Given the description of an element on the screen output the (x, y) to click on. 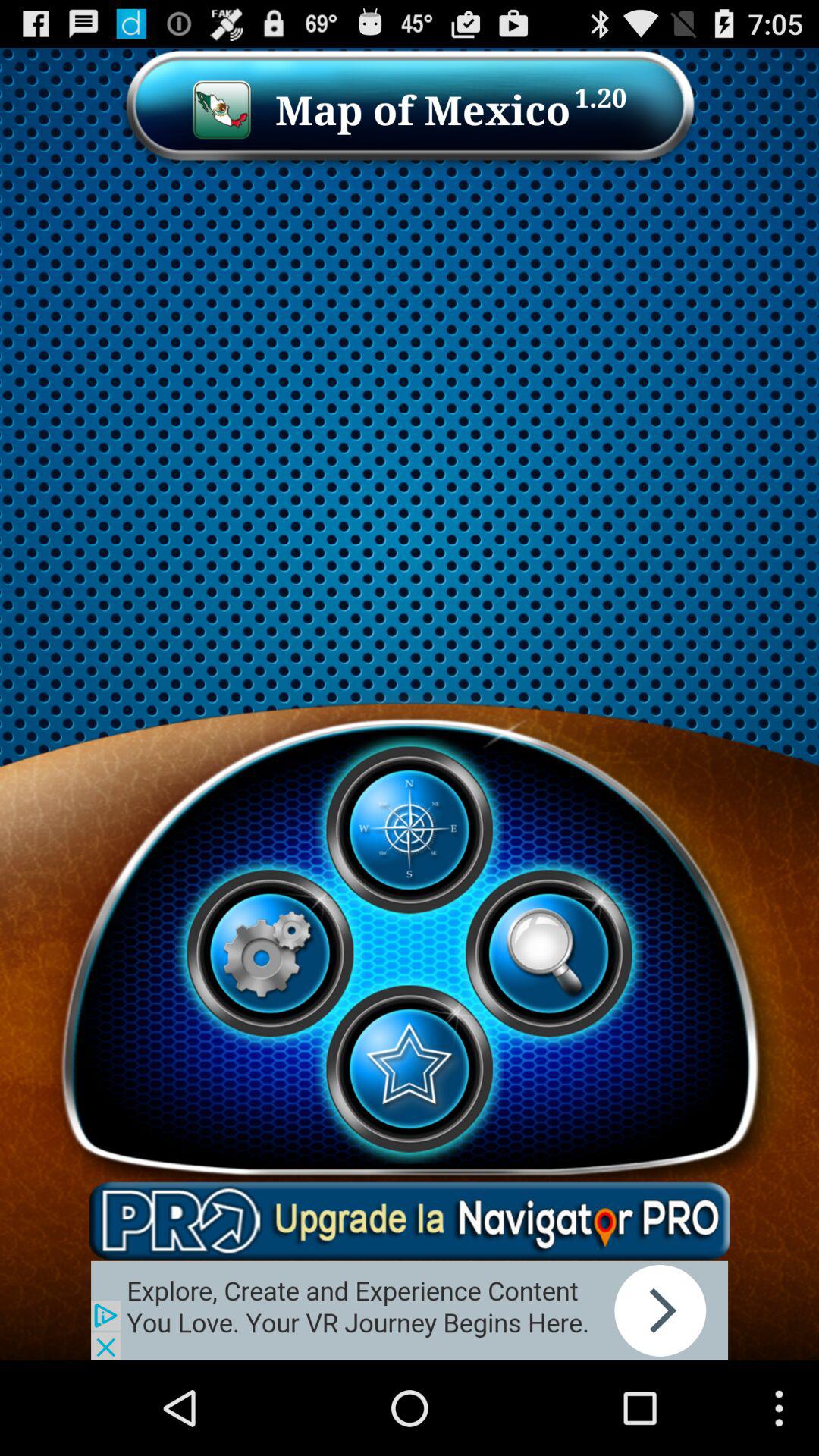
explore the link (409, 1310)
